Given the description of an element on the screen output the (x, y) to click on. 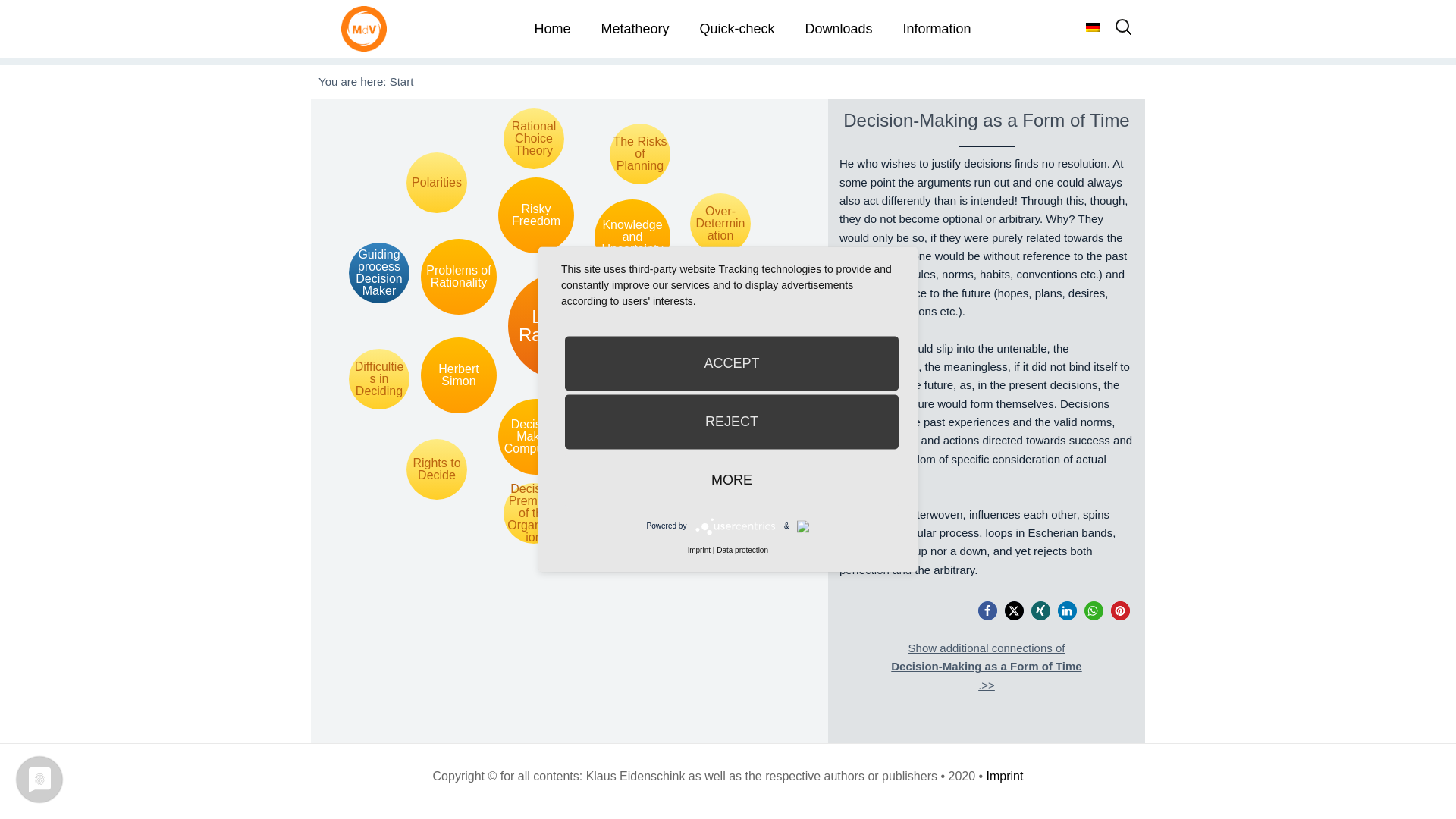
Decision-Making Compulsion (535, 436)
Limited Rationality (561, 325)
Deciding (675, 325)
Metatheory (634, 28)
Knowledge and Uncertainty (631, 237)
Polarities (436, 182)
Decision and Time (750, 325)
Quick-check (736, 28)
